Given the description of an element on the screen output the (x, y) to click on. 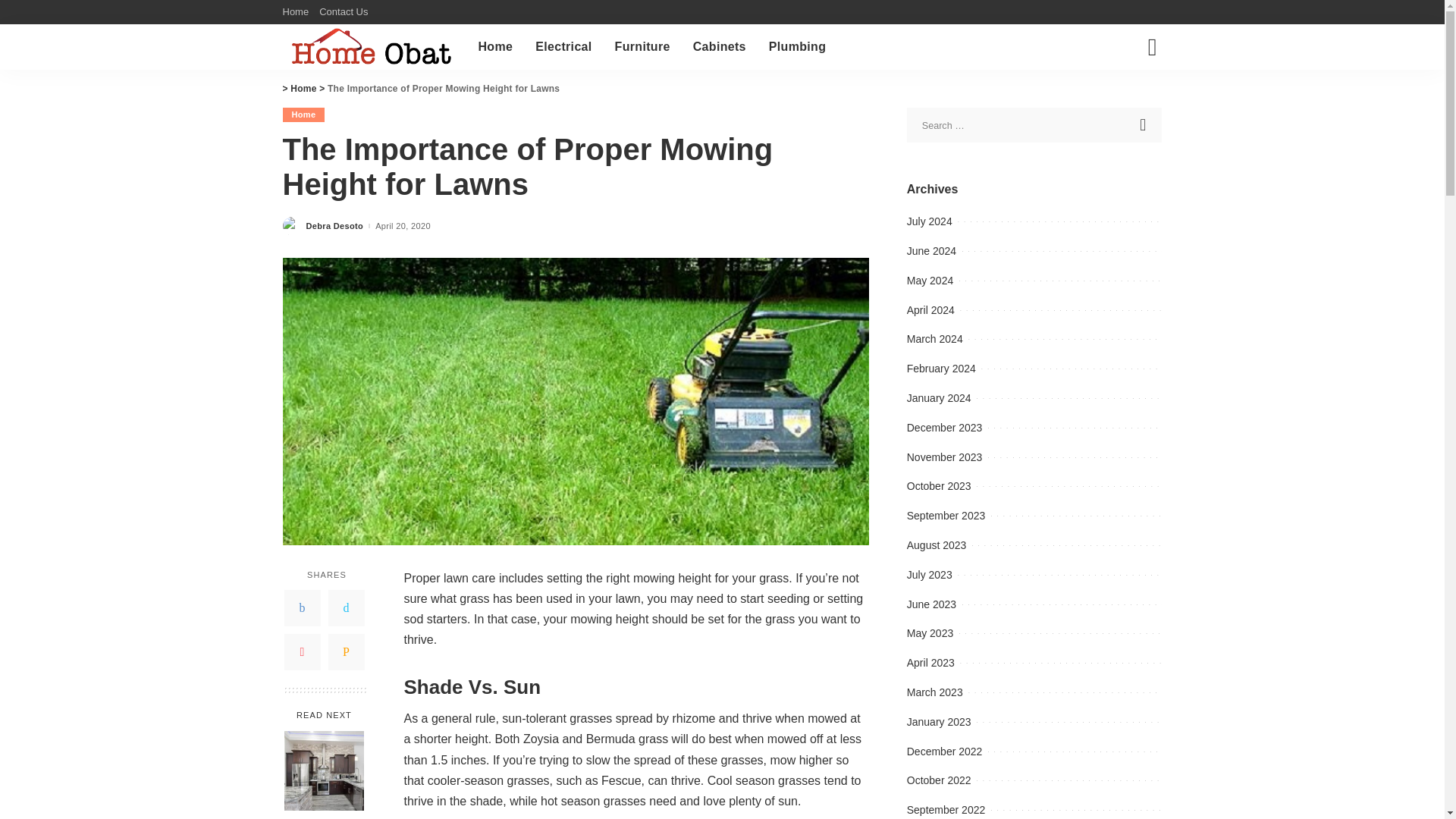
Twitter (345, 607)
Search (1143, 124)
Facebook (301, 607)
Pinterest (301, 651)
Search (1143, 124)
Go to the Home Category archives. (302, 88)
Email (345, 651)
